Given the description of an element on the screen output the (x, y) to click on. 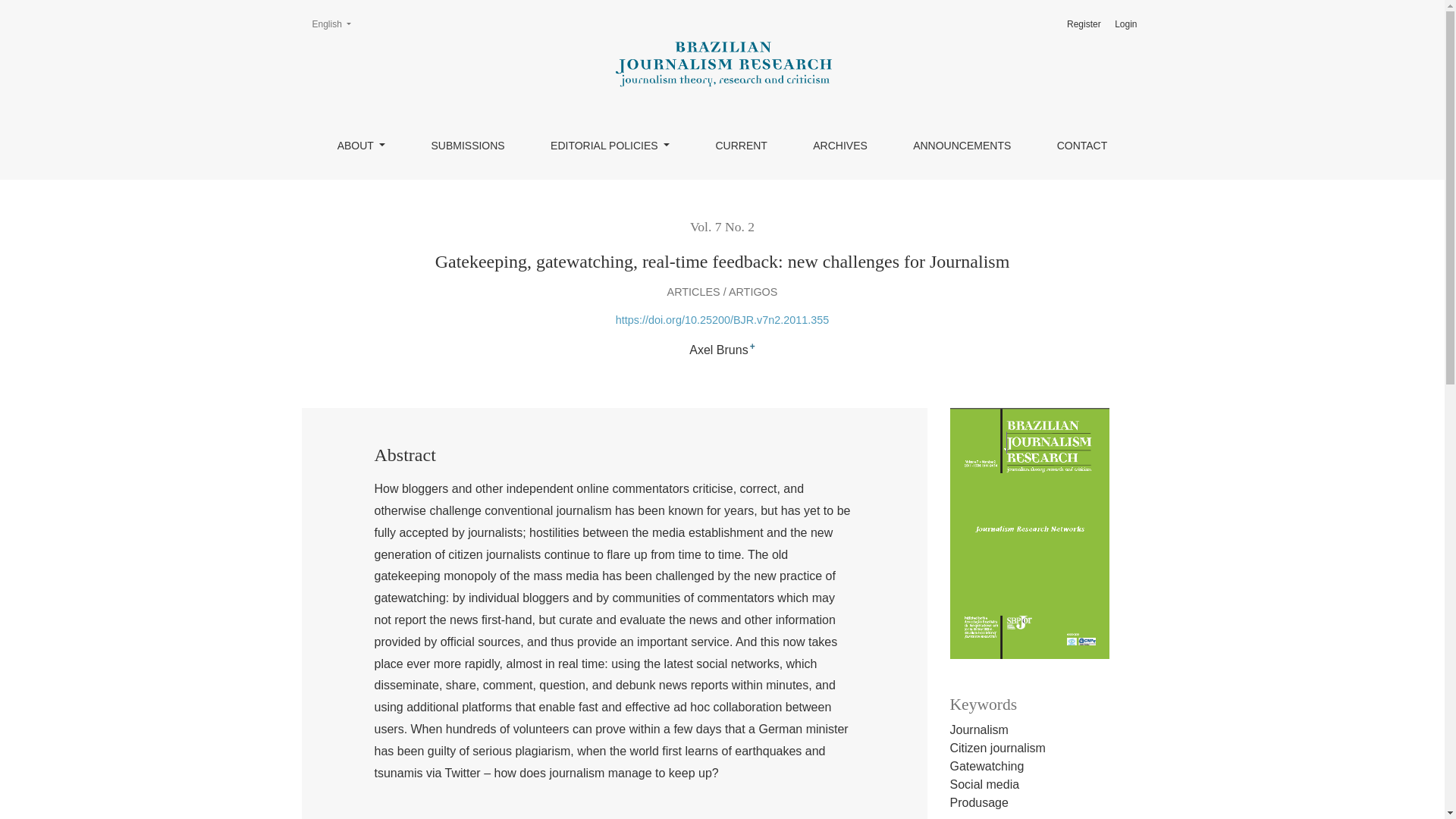
SUBMISSIONS (466, 145)
CURRENT (739, 145)
Register (331, 24)
ABOUT (1083, 24)
EDITORIAL POLICIES (360, 145)
CONTACT (609, 145)
ANNOUNCEMENTS (1082, 145)
ARCHIVES (961, 145)
Login (839, 145)
